Given the description of an element on the screen output the (x, y) to click on. 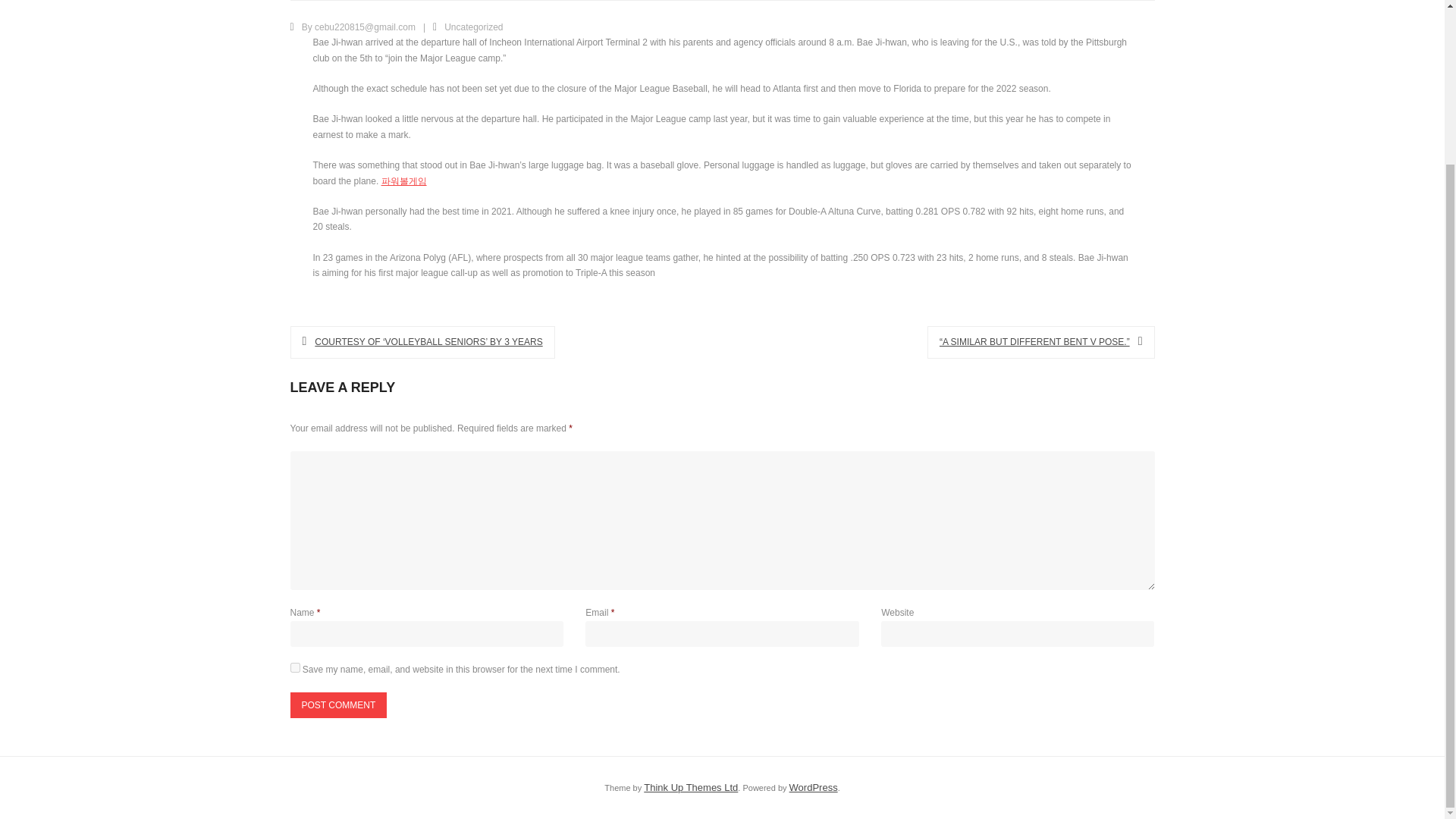
yes (294, 667)
Think Up Themes Ltd (690, 787)
Post Comment (338, 705)
Post Comment (338, 705)
Uncategorized (473, 27)
WordPress (813, 787)
